Given the description of an element on the screen output the (x, y) to click on. 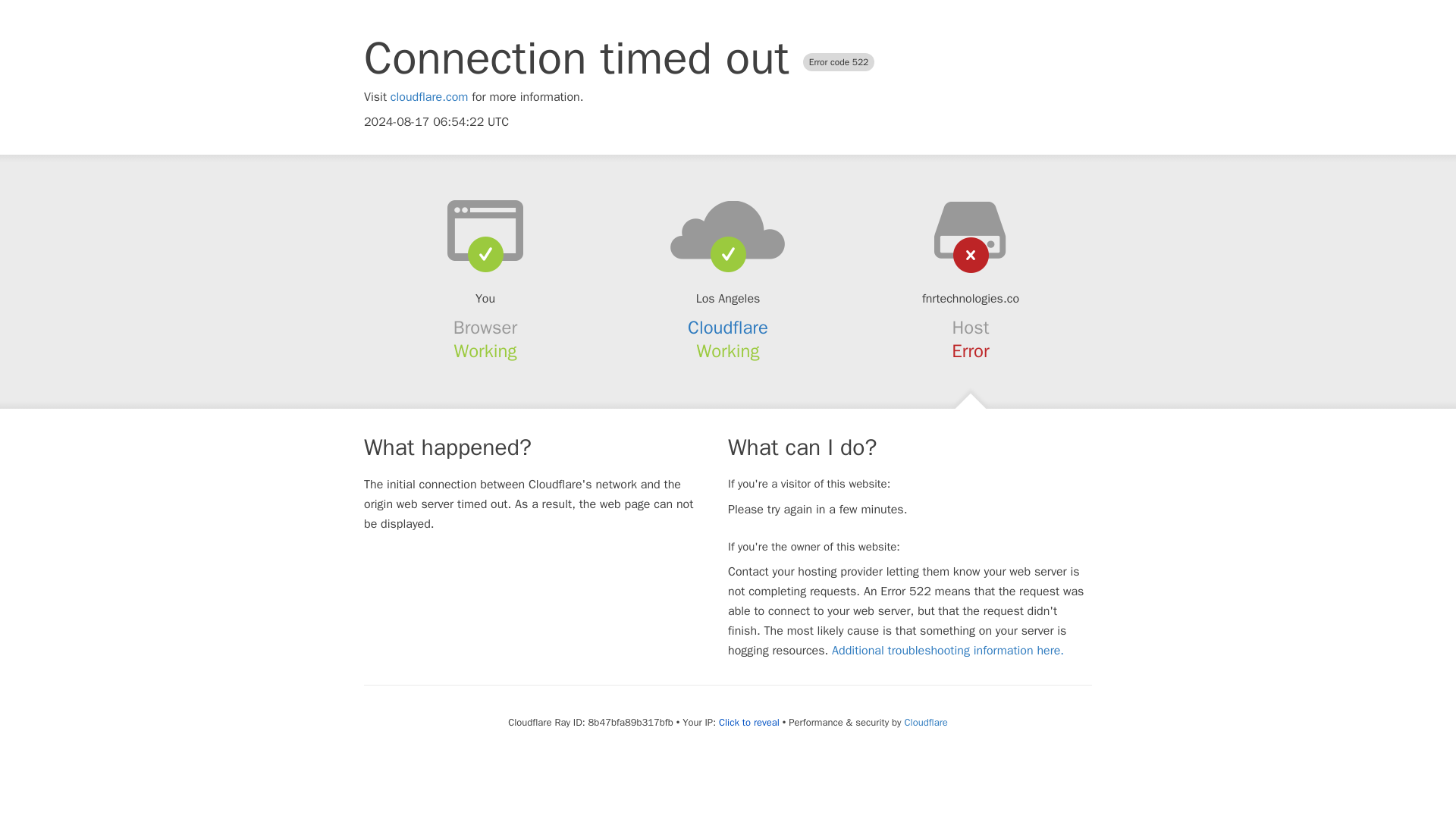
Cloudflare (925, 721)
Cloudflare (727, 327)
Click to reveal (748, 722)
Additional troubleshooting information here. (947, 650)
cloudflare.com (429, 96)
